Given the description of an element on the screen output the (x, y) to click on. 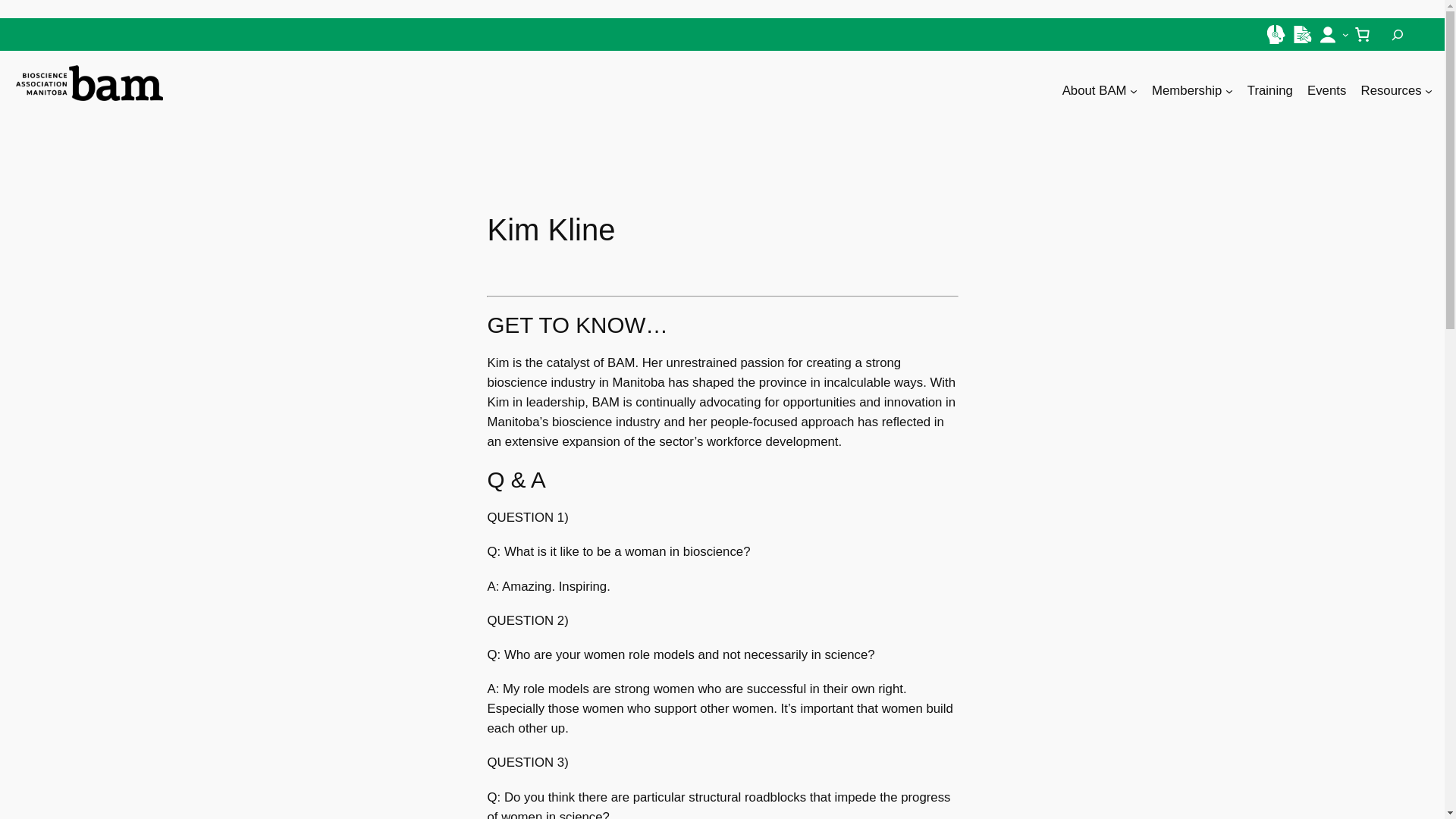
Training (1269, 90)
Resources (1391, 90)
About BAM (1094, 90)
Membership (1186, 90)
Events (1326, 90)
